Given the description of an element on the screen output the (x, y) to click on. 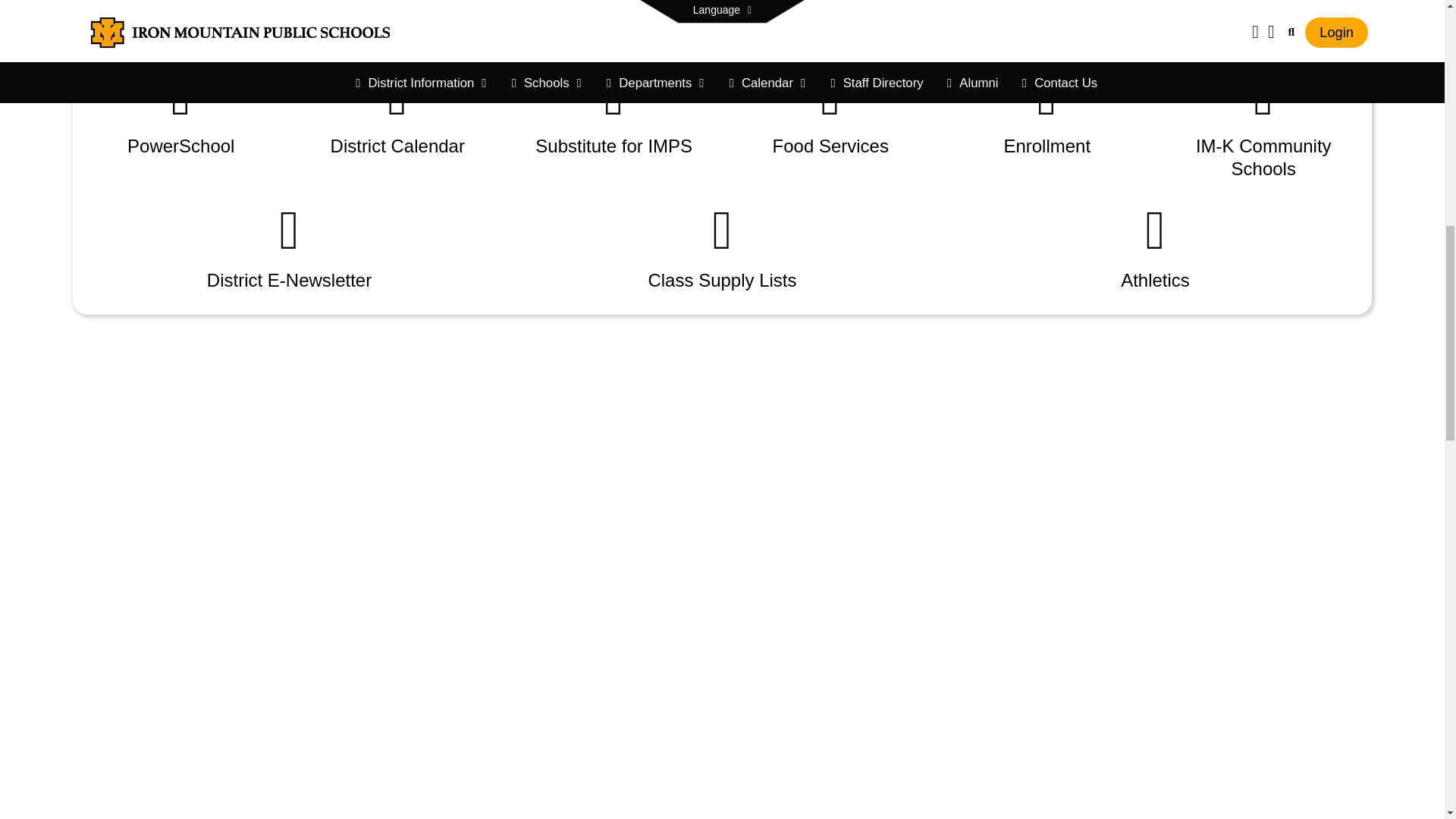
Food Services (830, 113)
PowerSchool (181, 113)
IM-K Community Schools (1264, 124)
Class Supply Lists (722, 247)
Enrollment (1047, 113)
Athletics (1155, 247)
District E-Newsletter (288, 247)
Substitute for IMPS (613, 113)
District Calendar (398, 113)
